Given the description of an element on the screen output the (x, y) to click on. 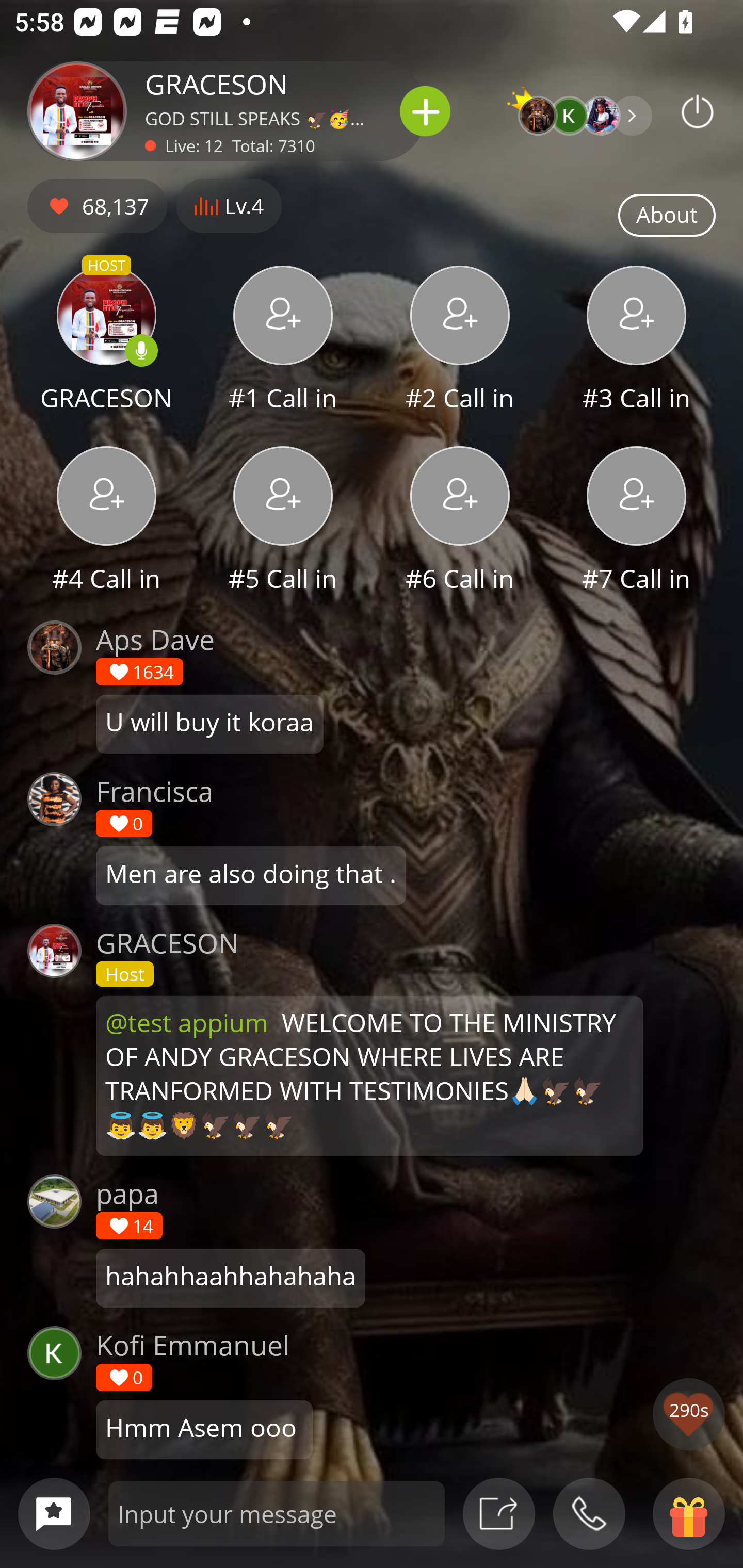
Podbean (697, 111)
About (666, 215)
HOST GRACESON (105, 340)
#1 Call in (282, 340)
#2 Call in (459, 340)
#3 Call in (636, 340)
#4 Call in (105, 521)
#5 Call in (282, 521)
#6 Call in (459, 521)
#7 Call in (636, 521)
Input your message (276, 1513)
